Given the description of an element on the screen output the (x, y) to click on. 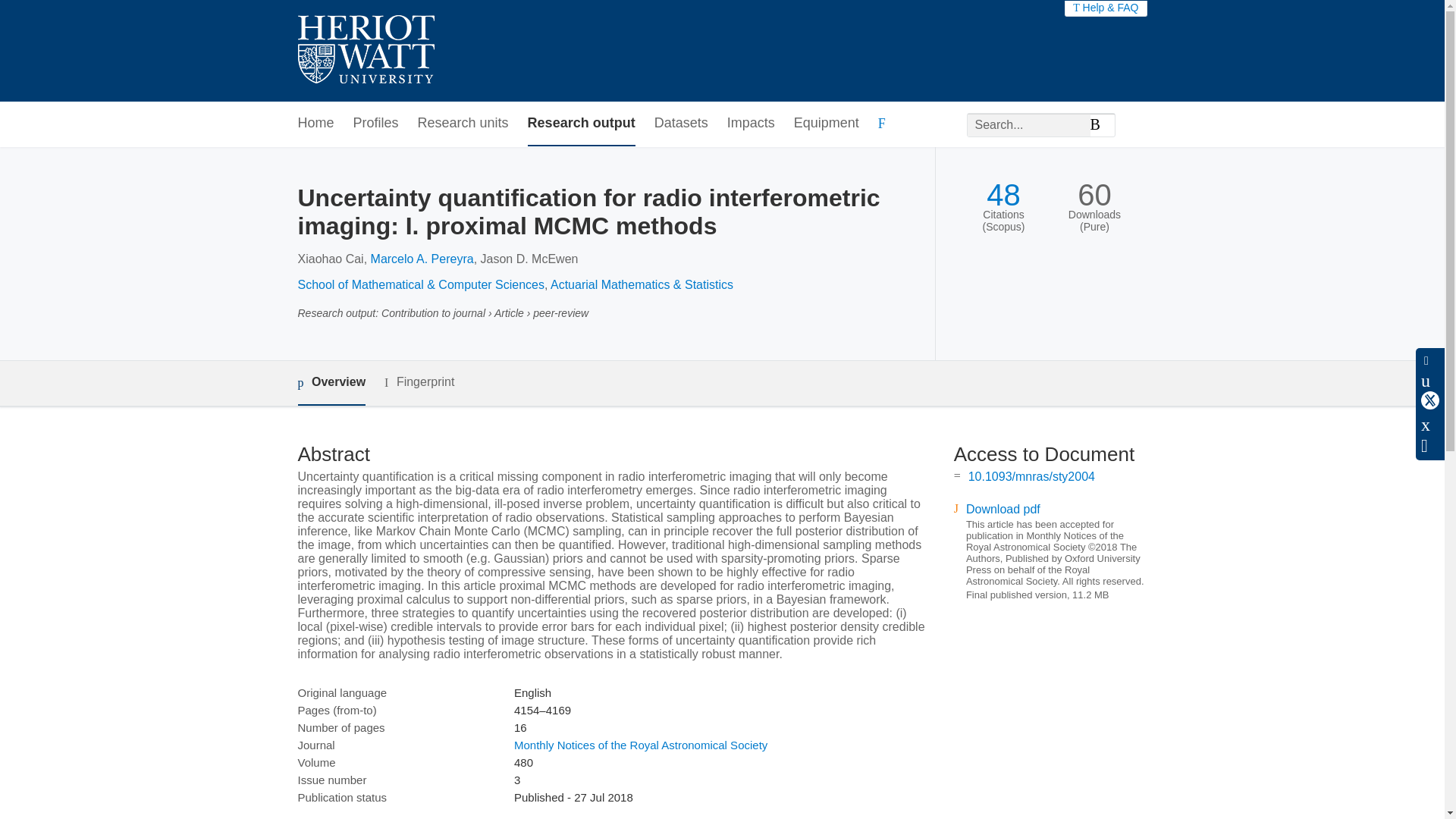
Fingerprint (419, 382)
Marcelo A. Pereyra (422, 258)
Monthly Notices of the Royal Astronomical Society (640, 744)
Equipment (826, 123)
Research units (462, 123)
48 (1003, 194)
Download pdf (1003, 508)
Datasets (680, 123)
Overview (331, 383)
